Given the description of an element on the screen output the (x, y) to click on. 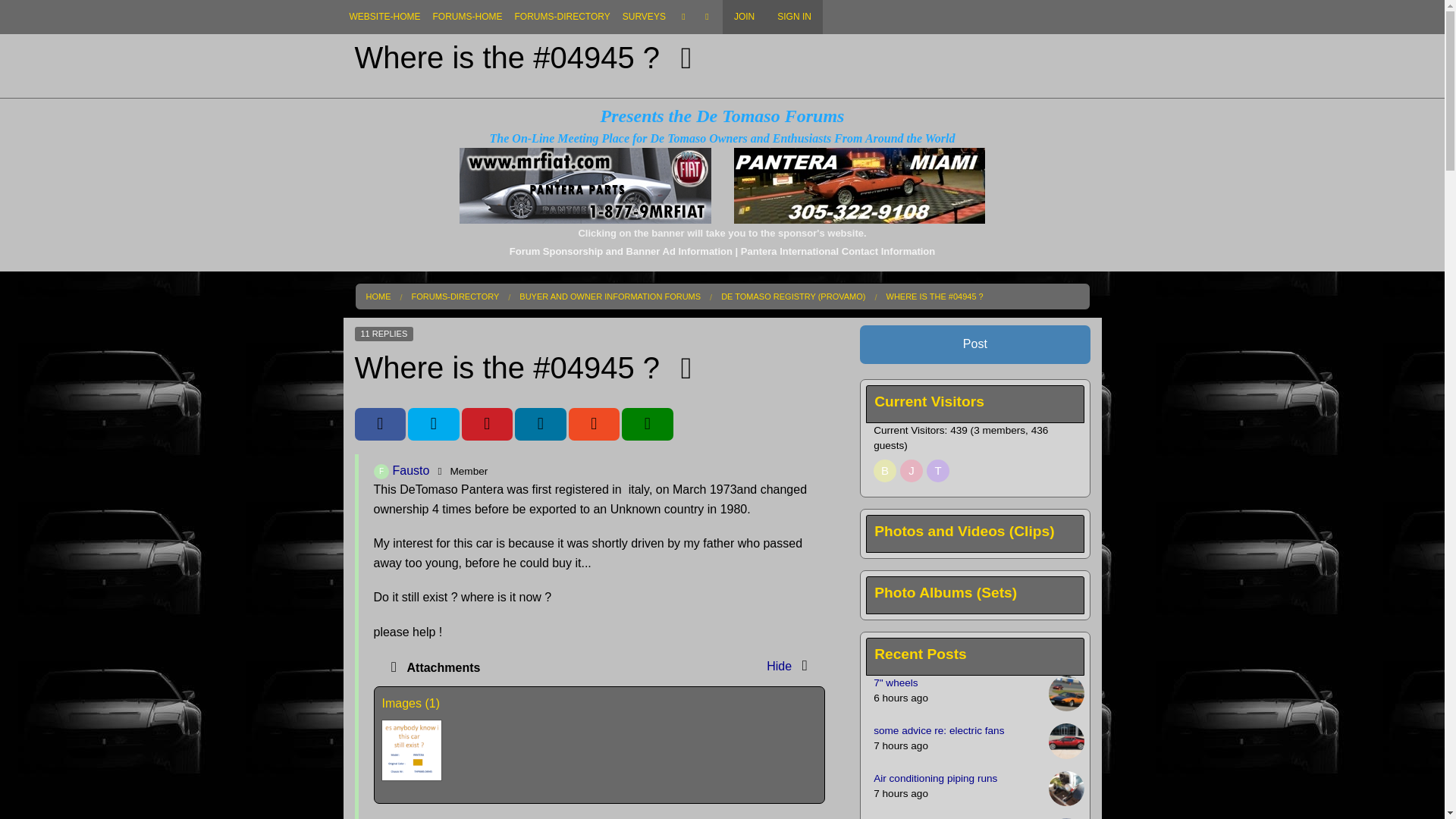
WEBSITE-HOME (384, 17)
Forum Sponsorship and Banner Ad Information (620, 251)
Announcement (411, 750)
FORUMS-DIRECTORY (561, 17)
Pantera International Contact Information (837, 251)
DIRECTORY (561, 47)
B (884, 470)
J (911, 470)
NEWS FORUMS (561, 100)
FORUMS-HOME (467, 17)
F (380, 471)
PHOTOGRAPH AND VIDEO FORUMS (561, 154)
SOCIALIZING FORUMS (561, 128)
Fausto (380, 471)
T (937, 470)
